Given the description of an element on the screen output the (x, y) to click on. 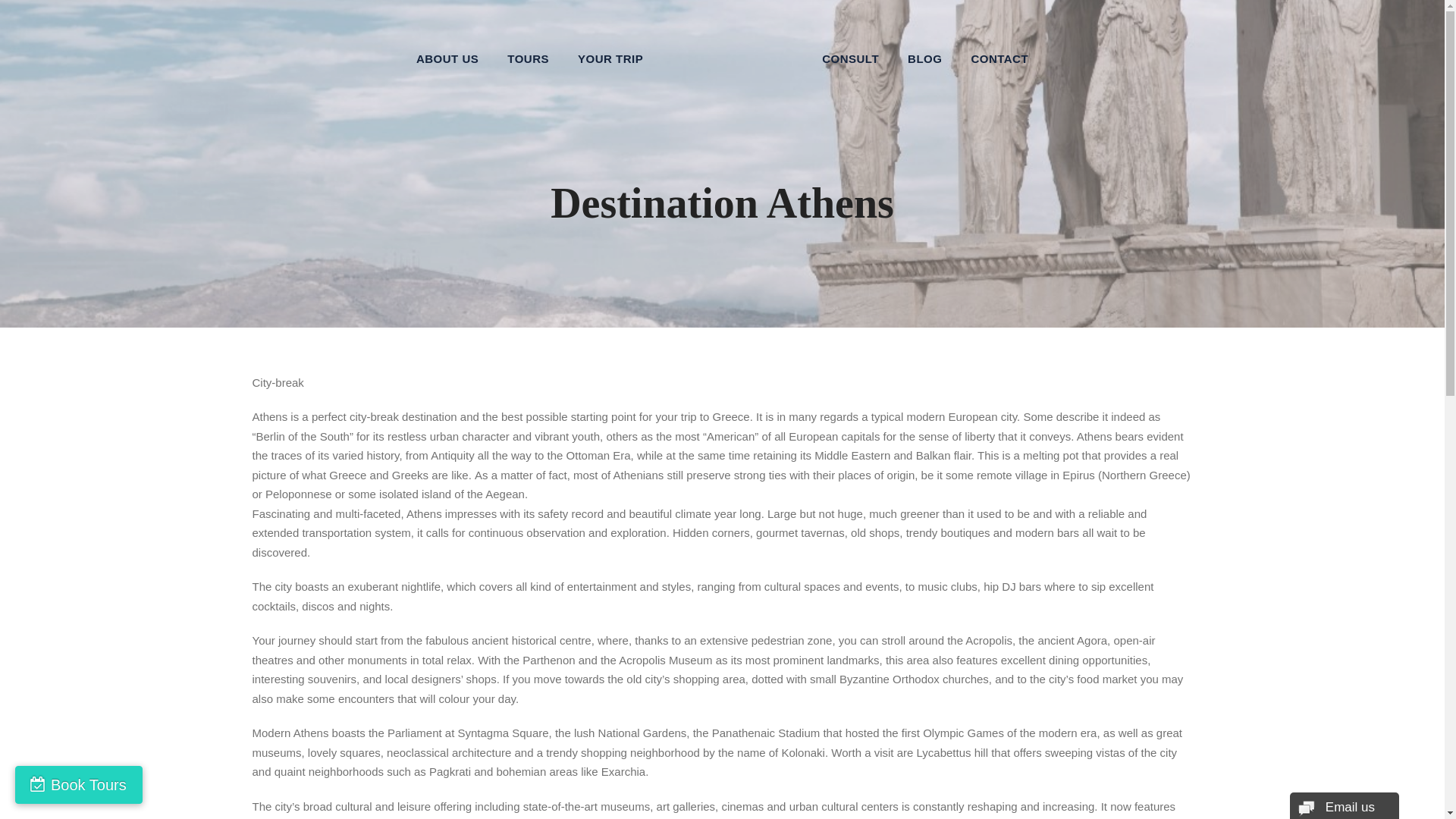
YOUR TRIP (610, 52)
ABOUT US (447, 52)
CONTACT (999, 52)
Email us (1343, 805)
TOURS (527, 52)
BLOG (924, 52)
CONSULT (850, 52)
